Given the description of an element on the screen output the (x, y) to click on. 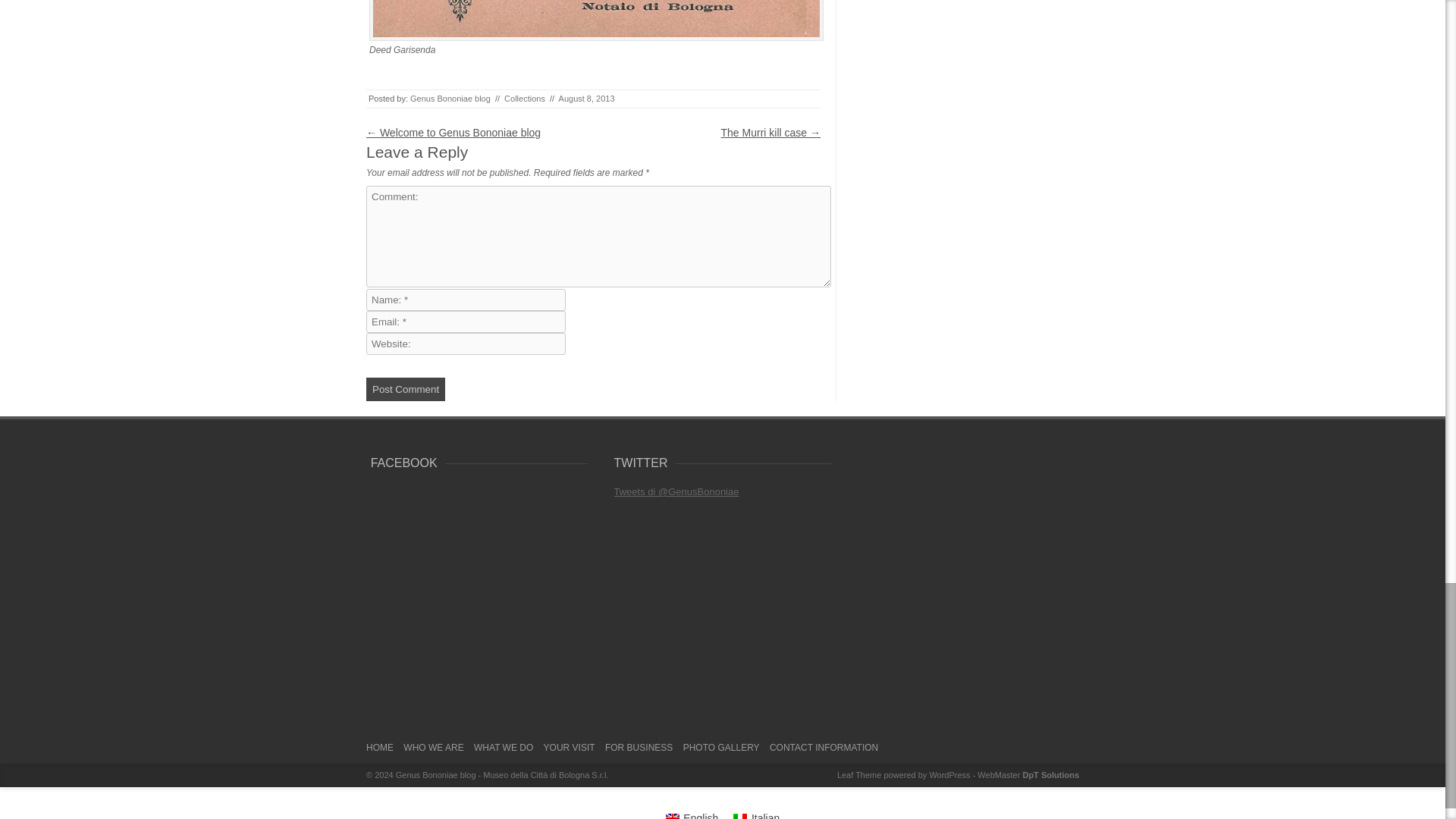
Post Comment (405, 389)
Genus Bononiae blog (502, 774)
Genus Bononiae blog (450, 98)
Dpt Solutions (1050, 774)
View all posts by Genus Bononiae blog (450, 98)
PHOTO GALLERY (721, 751)
10:38 (586, 98)
CONTACT INFORMATION (823, 751)
Leaf Theme (859, 774)
FOR BUSINESS (638, 751)
